Given the description of an element on the screen output the (x, y) to click on. 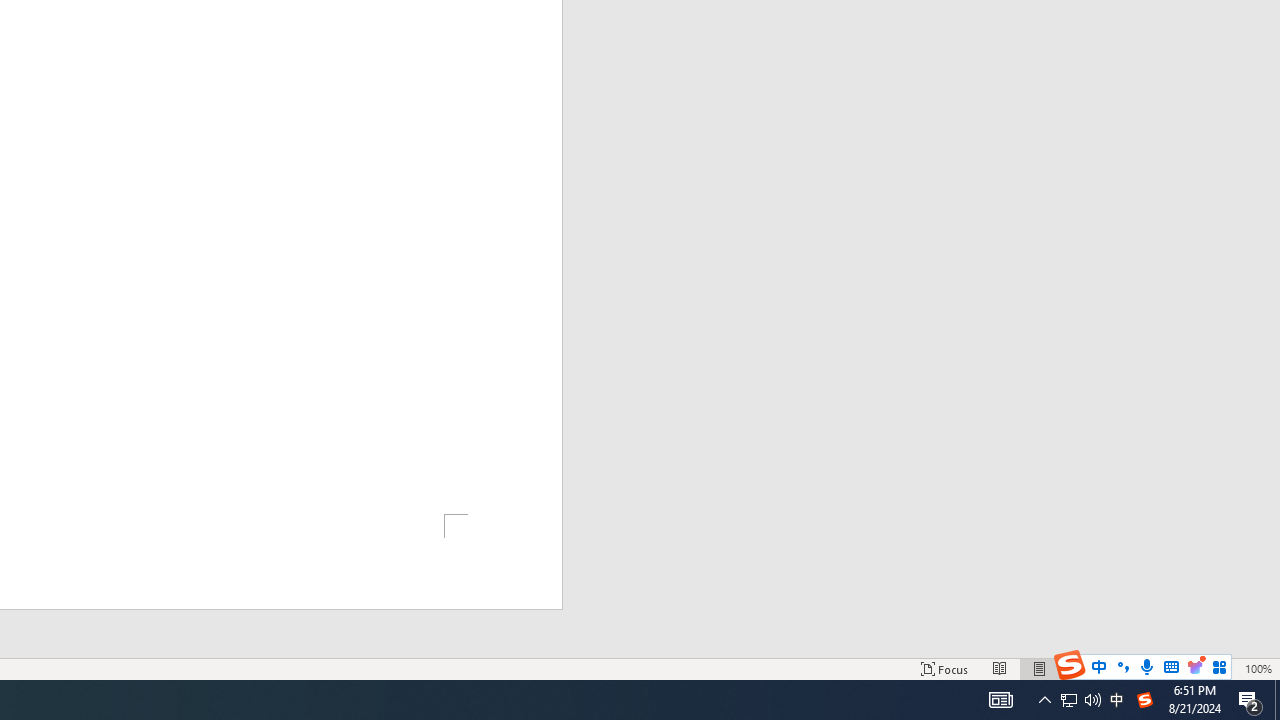
Zoom 100% (1258, 668)
Read Mode (1000, 668)
Zoom Out (1142, 668)
Focus  (944, 668)
Print Layout (1039, 668)
Zoom (1168, 668)
Zoom In (1227, 668)
Web Layout (1079, 668)
